Given the description of an element on the screen output the (x, y) to click on. 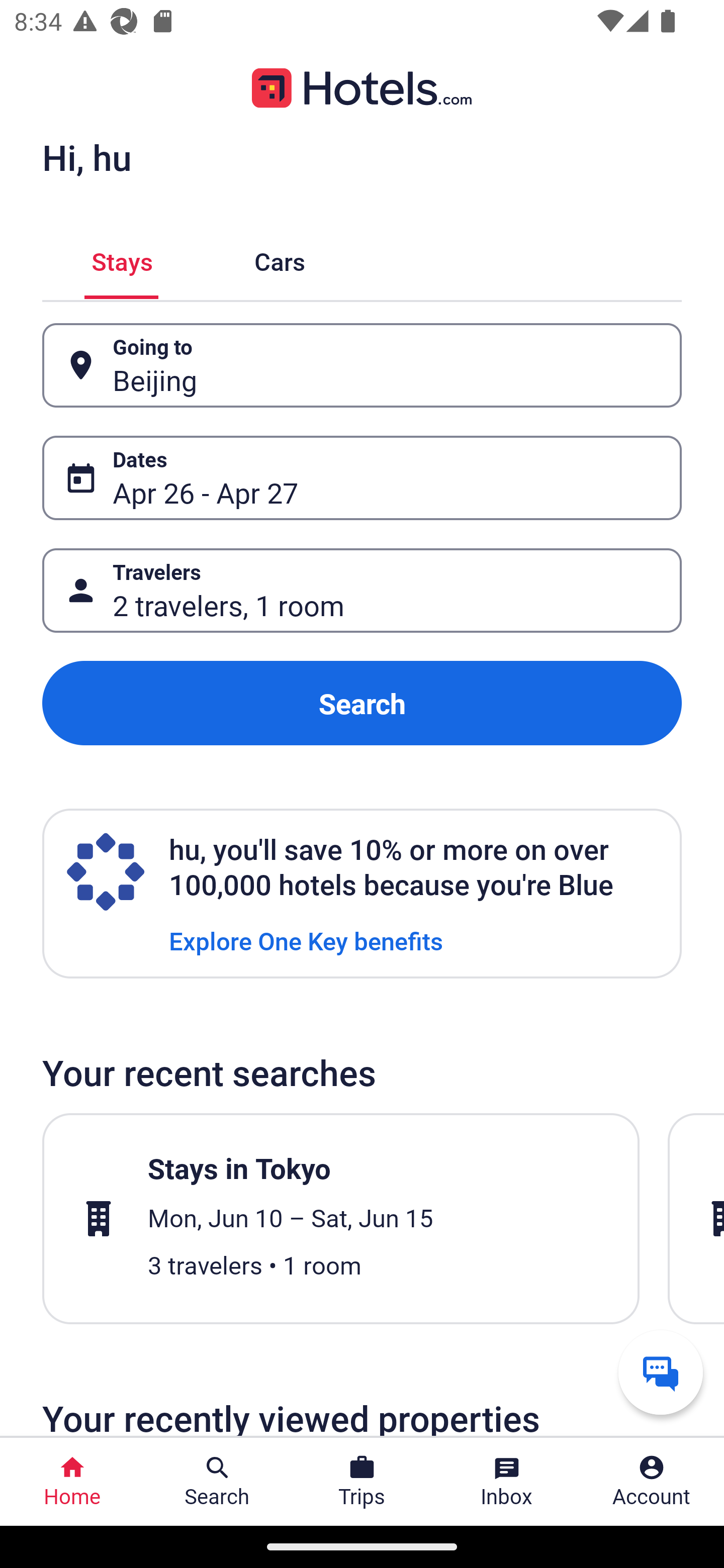
Hi, hu (86, 156)
Cars (279, 259)
Going to Button Beijing (361, 365)
Dates Button Apr 26 - Apr 27 (361, 477)
Travelers Button 2 travelers, 1 room (361, 590)
Search (361, 702)
Get help from a virtual agent (660, 1371)
Search Search Button (216, 1481)
Trips Trips Button (361, 1481)
Inbox Inbox Button (506, 1481)
Account Profile. Button (651, 1481)
